Given the description of an element on the screen output the (x, y) to click on. 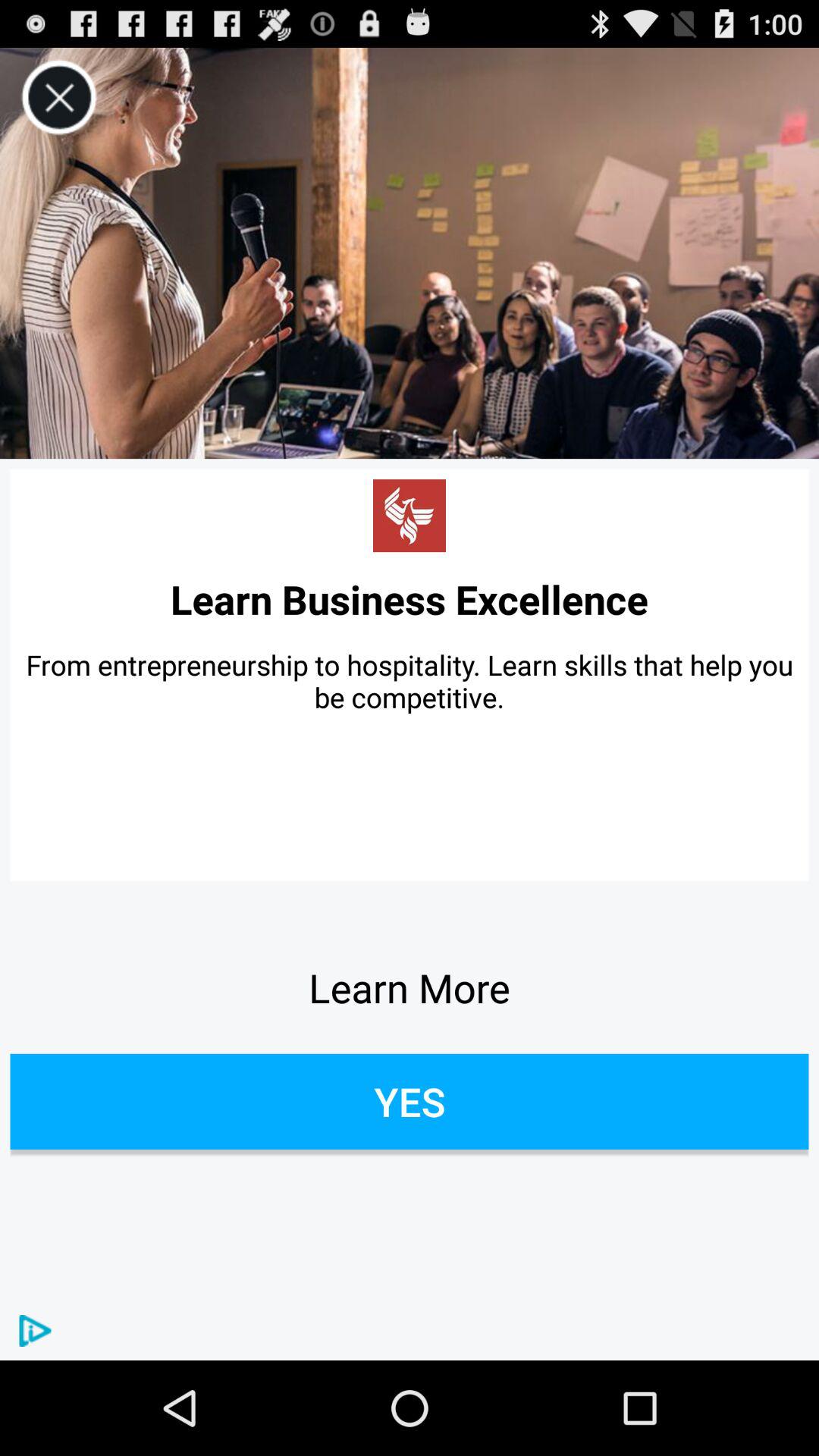
launch app above the learn more item (409, 680)
